Given the description of an element on the screen output the (x, y) to click on. 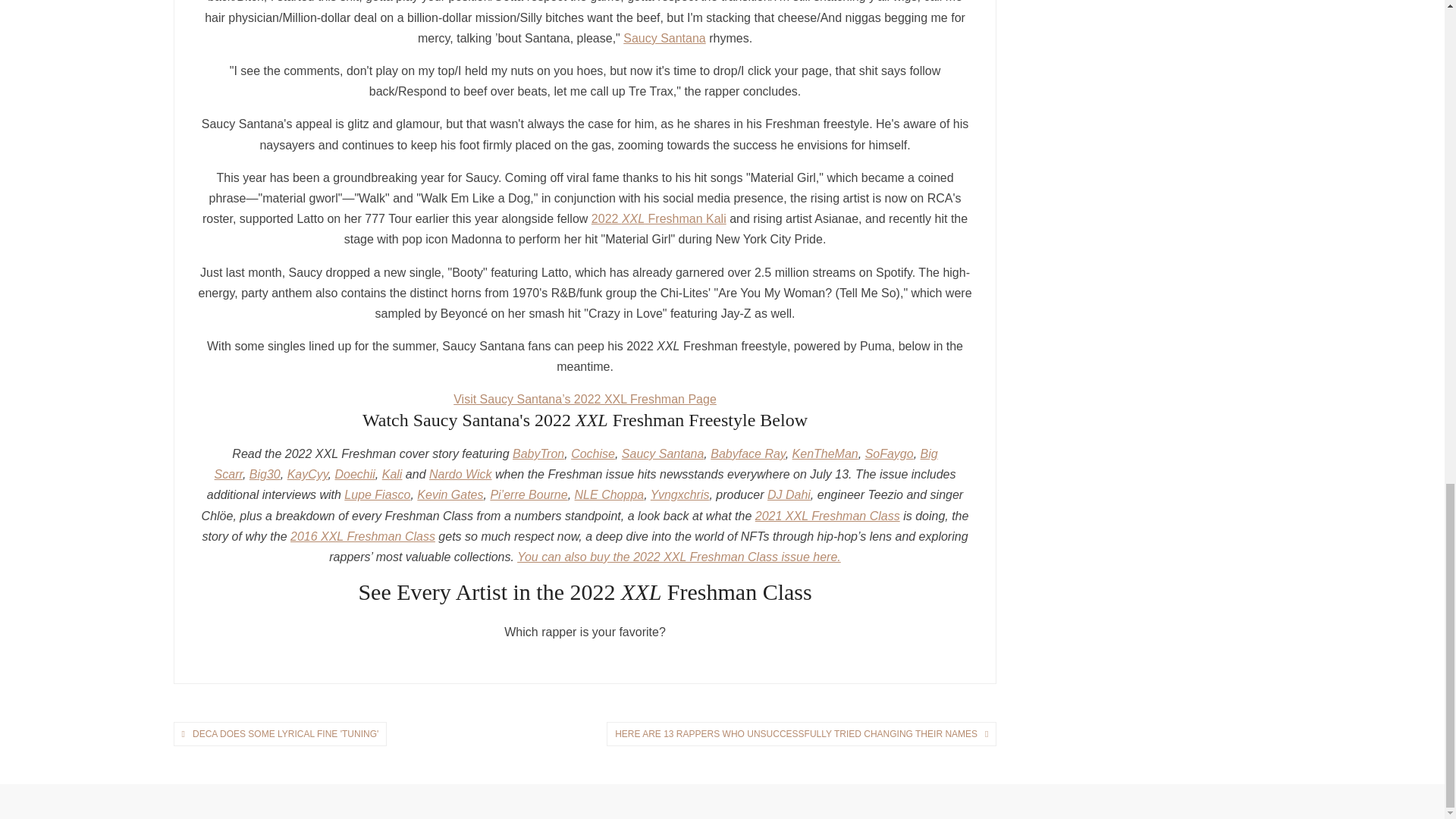
KenTheMan (825, 453)
Big30 (264, 473)
SoFaygo (889, 453)
Kali (392, 473)
Kevin Gates (449, 494)
BabyTron (538, 453)
Yvngxchris (680, 494)
2022 XXL Freshman Kali (658, 218)
KayCyy (307, 473)
Big Scarr (575, 463)
Nardo Wick (460, 473)
Saucy Santana (664, 38)
Saucy Santana (662, 453)
Cochise (592, 453)
NLE Choppa (610, 494)
